Given the description of an element on the screen output the (x, y) to click on. 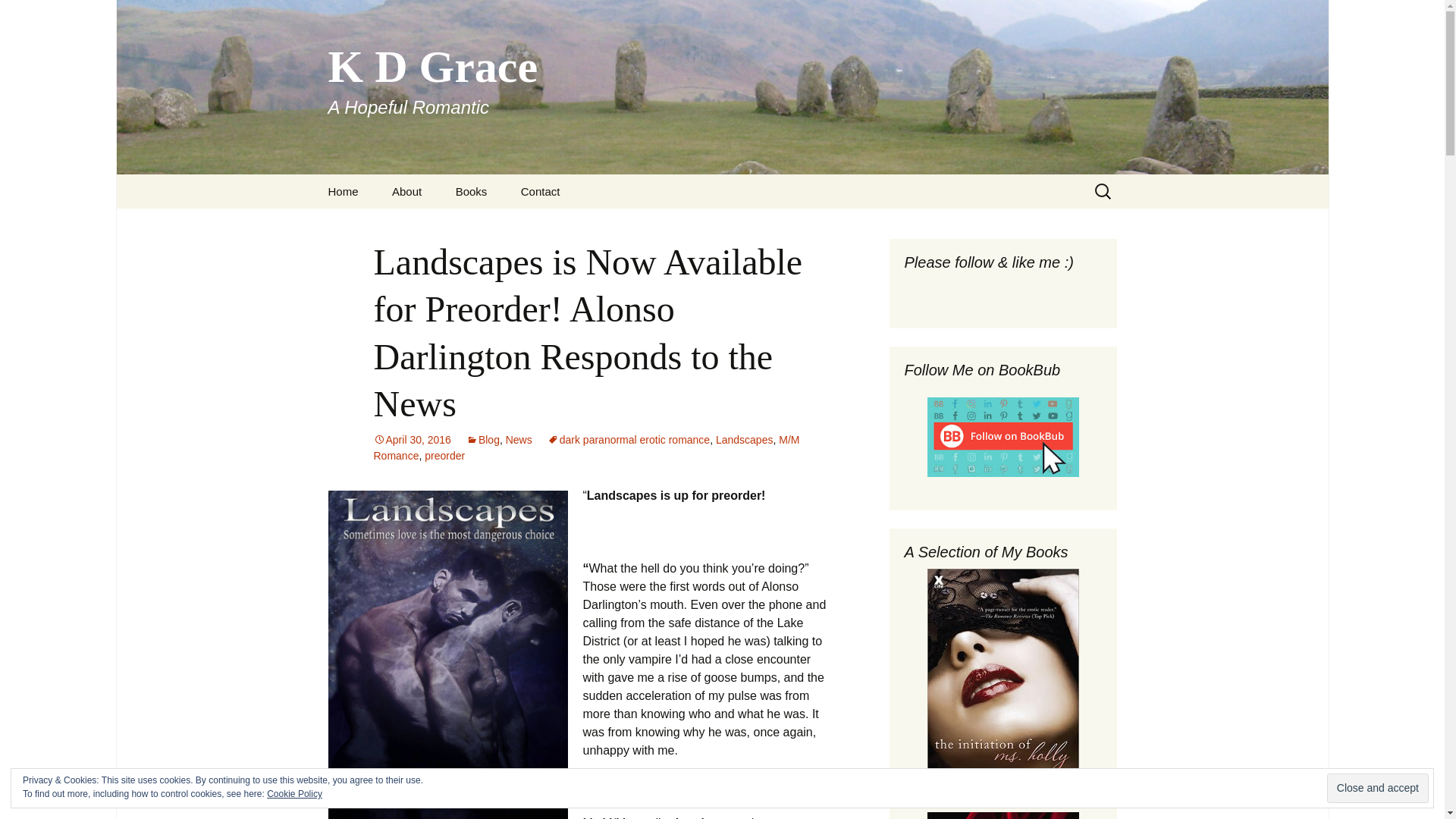
Contact (540, 191)
Blog (482, 439)
News (518, 439)
April 30, 2016 (410, 439)
Landscapes (471, 191)
dark paranormal erotic romance (744, 439)
